Given the description of an element on the screen output the (x, y) to click on. 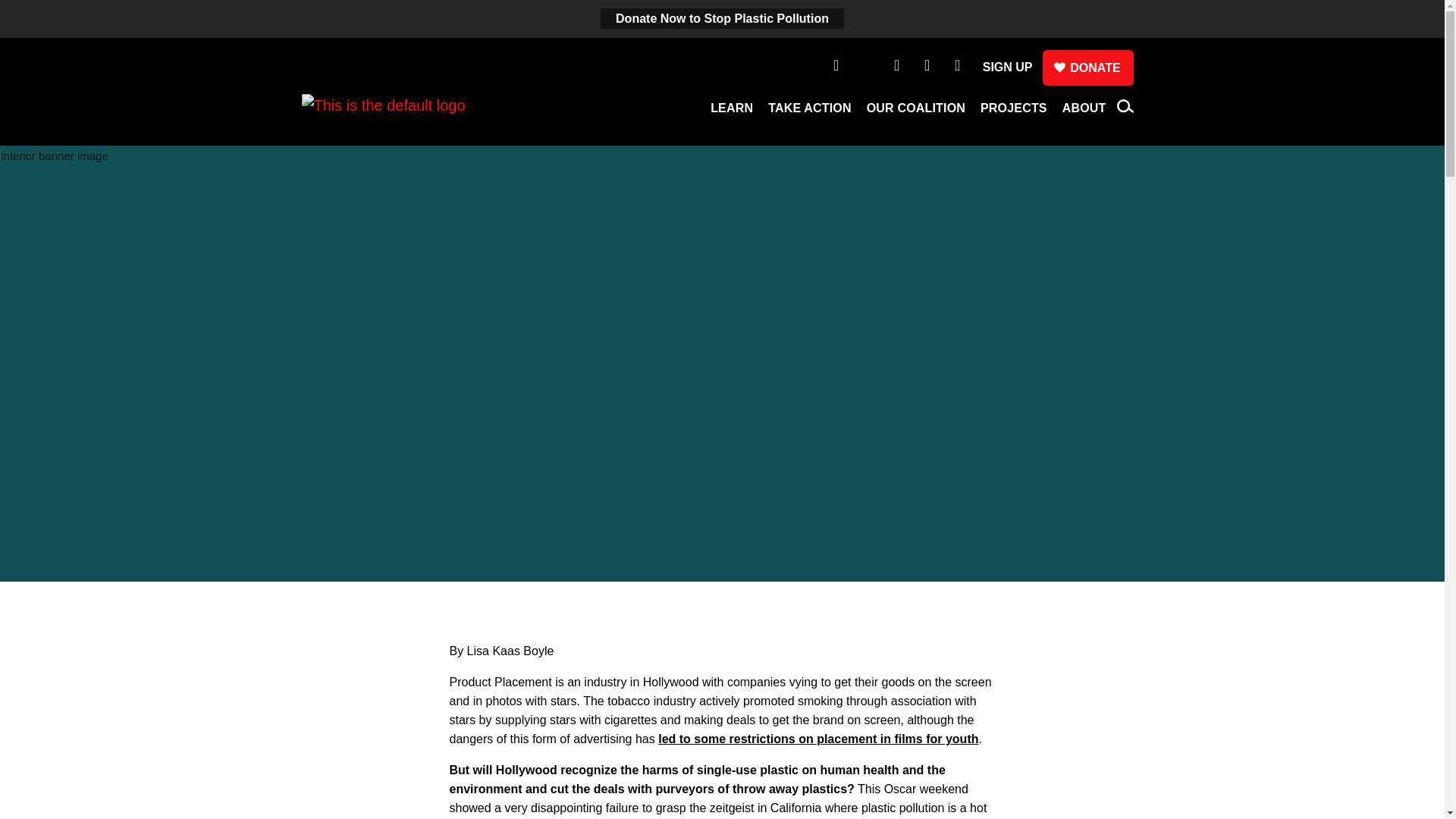
TAKE ACTION (809, 111)
Donate Now to Stop Plastic Pollution (721, 18)
SIGN UP (1007, 66)
PROJECTS (1012, 111)
Our Coalition (915, 111)
Take Action (809, 111)
OUR COALITION (915, 111)
DONATE (1087, 67)
